Given the description of an element on the screen output the (x, y) to click on. 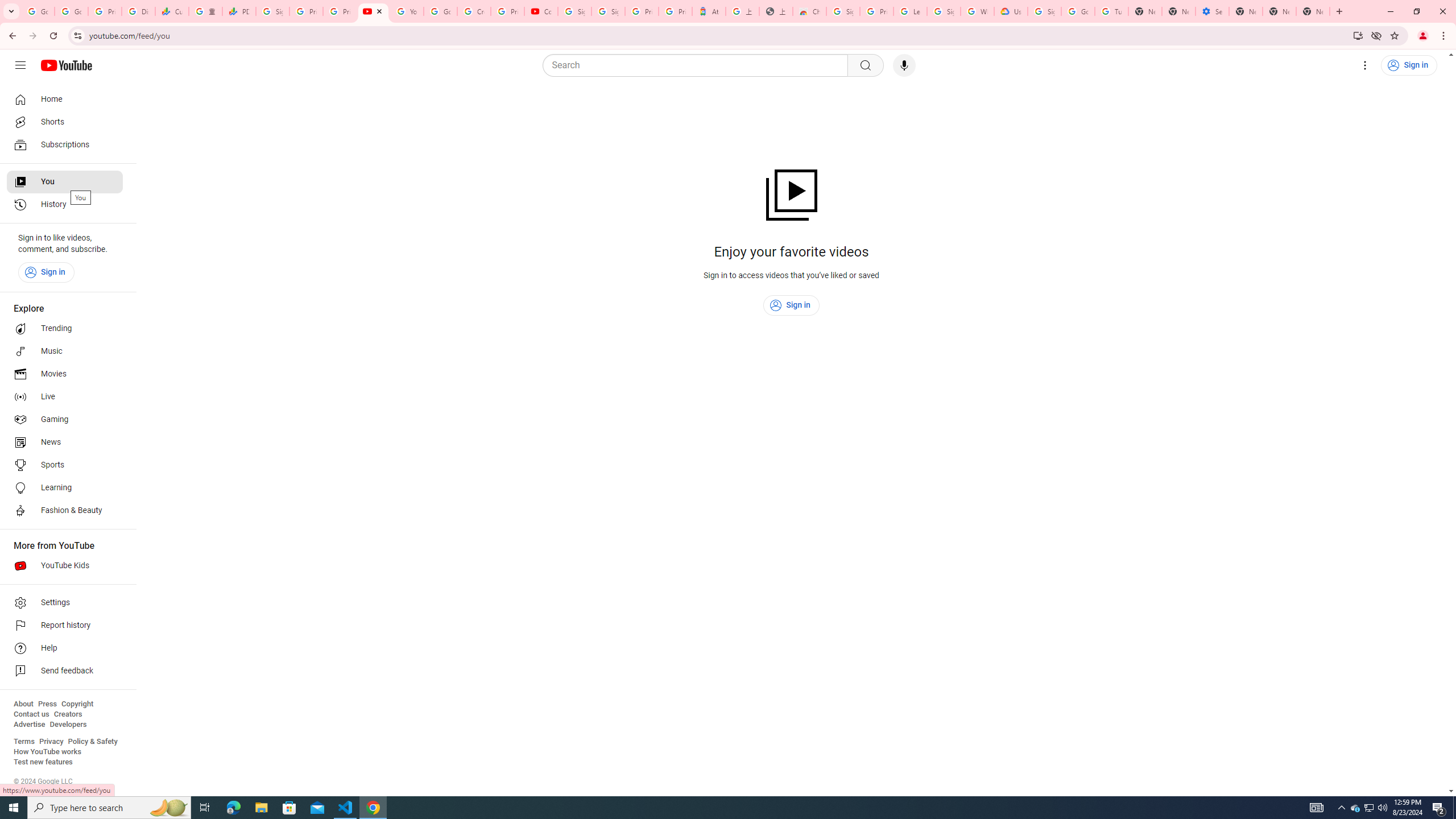
Search with your voice (903, 65)
Privacy Checkup (339, 11)
Send feedback (64, 671)
Sign in - Google Accounts (272, 11)
Currencies - Google Finance (171, 11)
Sign in - Google Accounts (608, 11)
Sign in - Google Accounts (943, 11)
Contact us (31, 714)
Atour Hotel - Google hotels (708, 11)
